Given the description of an element on the screen output the (x, y) to click on. 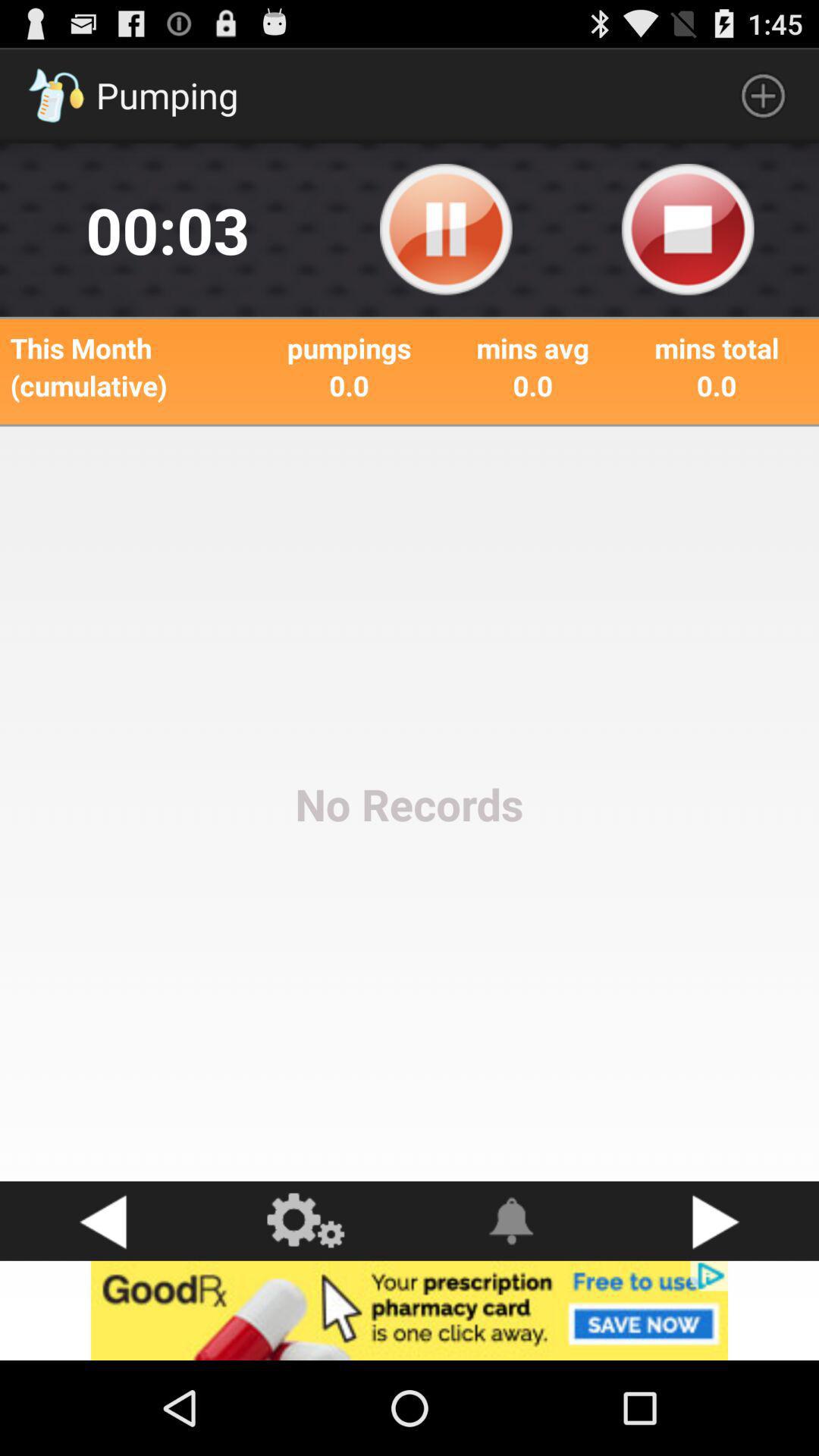
play button (716, 1220)
